Given the description of an element on the screen output the (x, y) to click on. 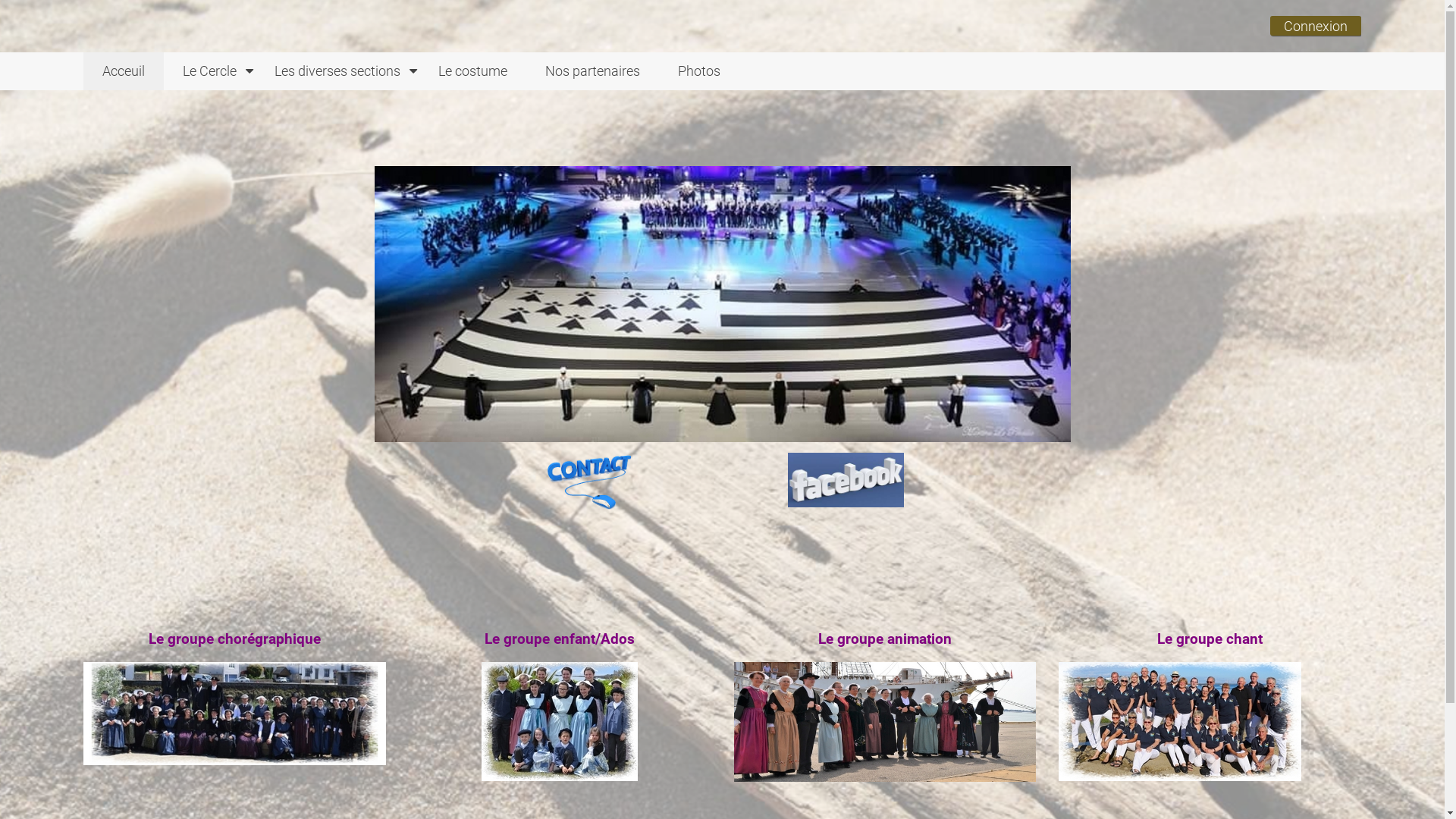
Les diverses sections Element type: text (337, 71)
Le costume Element type: text (472, 71)
Le Cercle Element type: text (209, 71)
Photos Element type: text (698, 71)
Acceuil Element type: text (123, 71)
Nos partenaires Element type: text (592, 71)
